Given the description of an element on the screen output the (x, y) to click on. 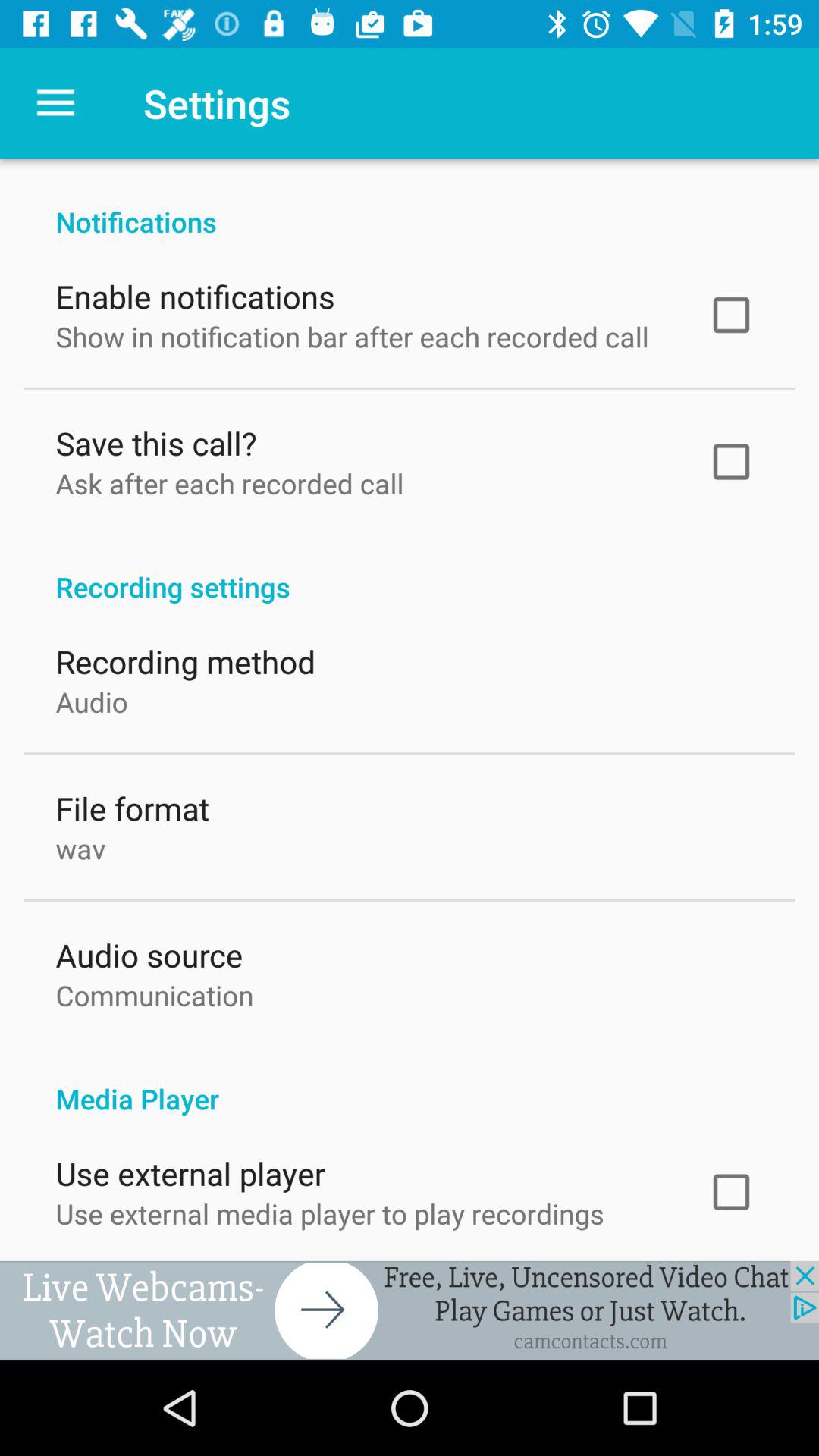
jump to show in notification item (351, 333)
